Given the description of an element on the screen output the (x, y) to click on. 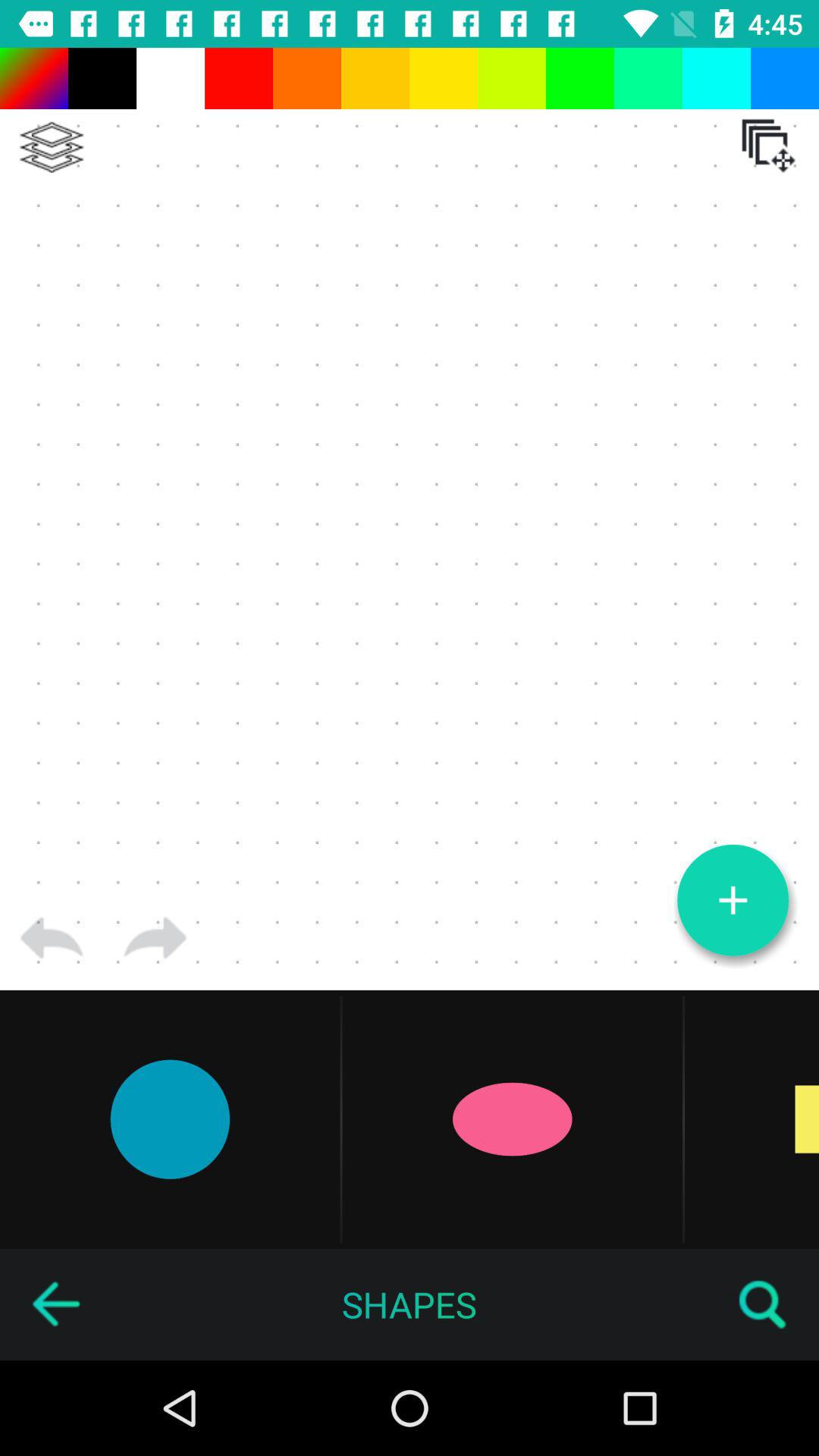
search for shapes (763, 1304)
